Given the description of an element on the screen output the (x, y) to click on. 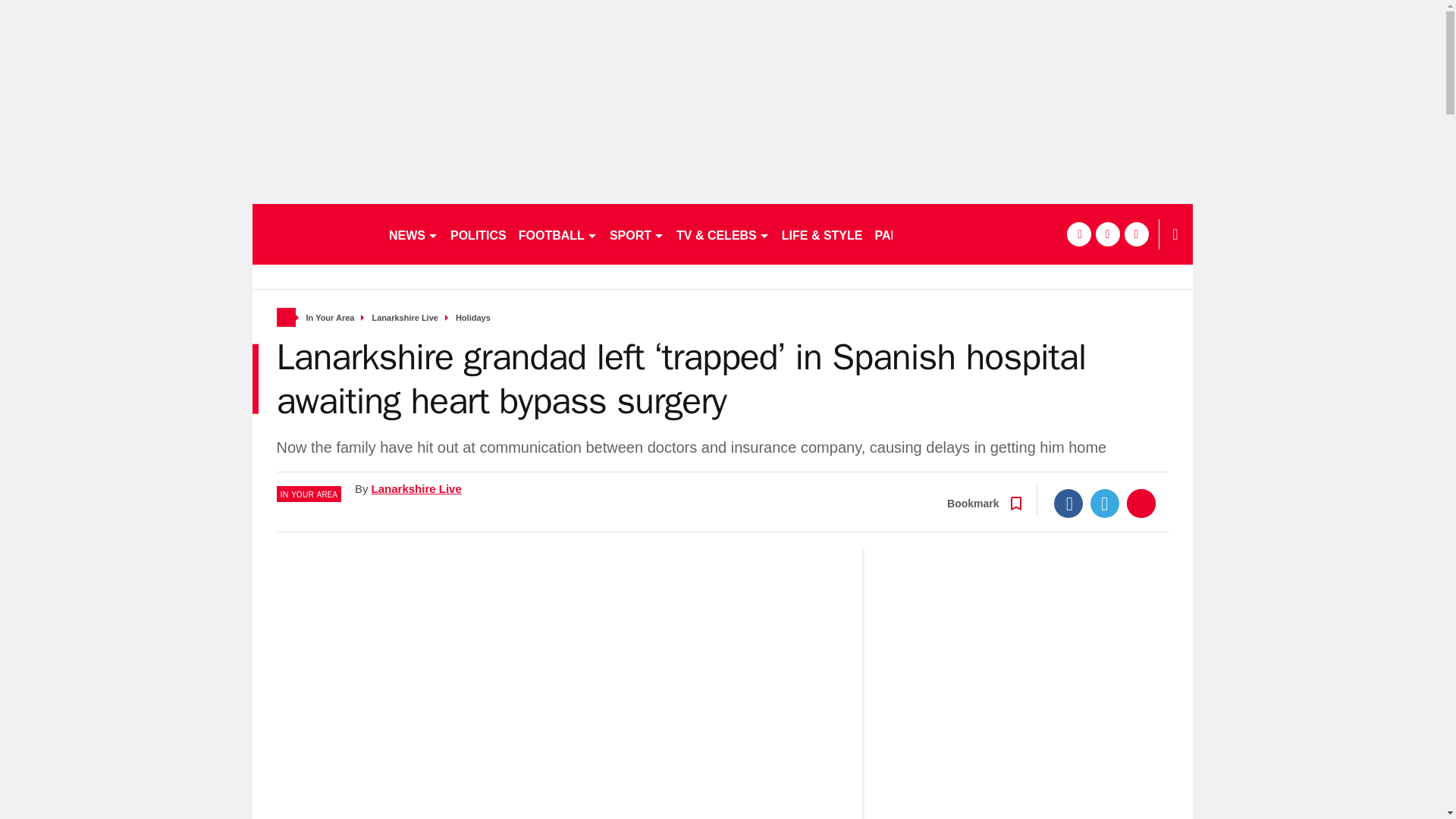
POLITICS (478, 233)
twitter (1106, 233)
facebook (1077, 233)
SPORT (636, 233)
NEWS (413, 233)
dailyrecord (313, 233)
FOOTBALL (558, 233)
Twitter (1104, 502)
Facebook (1068, 502)
instagram (1136, 233)
